Given the description of an element on the screen output the (x, y) to click on. 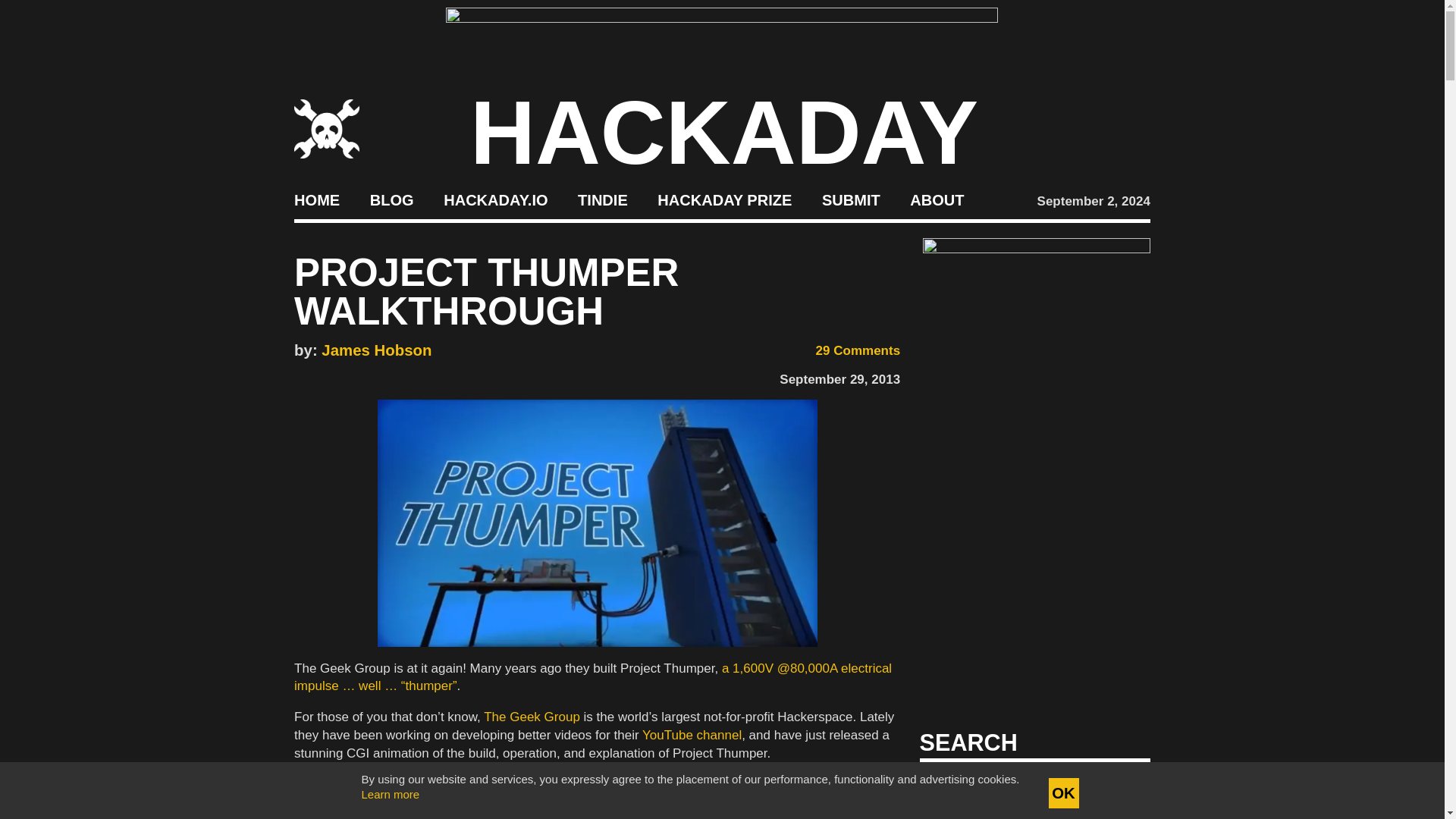
Share on Hacker News (347, 375)
Share on Twitter (324, 375)
The Geek Group (531, 716)
Search (1115, 787)
HACKADAY PRIZE (725, 200)
Share on Facebook (301, 375)
HOME (316, 200)
SUBMIT (851, 200)
HACKADAY.IO (495, 200)
